Given the description of an element on the screen output the (x, y) to click on. 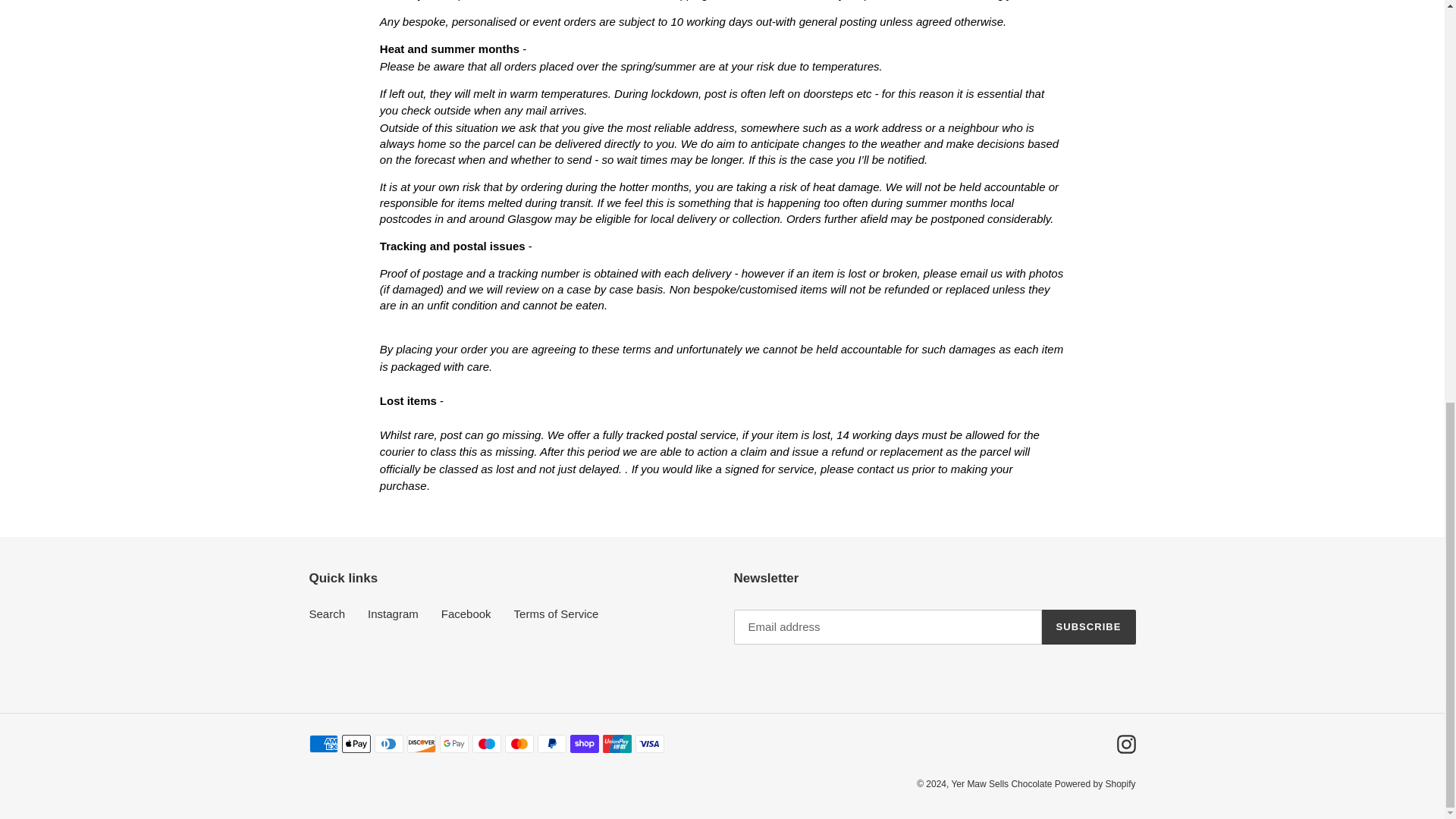
Instagram (393, 613)
Instagram (1125, 743)
Powered by Shopify (1094, 783)
Yer Maw Sells Chocolate (1002, 783)
Facebook (466, 613)
SUBSCRIBE (1088, 626)
Terms of Service (555, 613)
Search (327, 613)
